Given the description of an element on the screen output the (x, y) to click on. 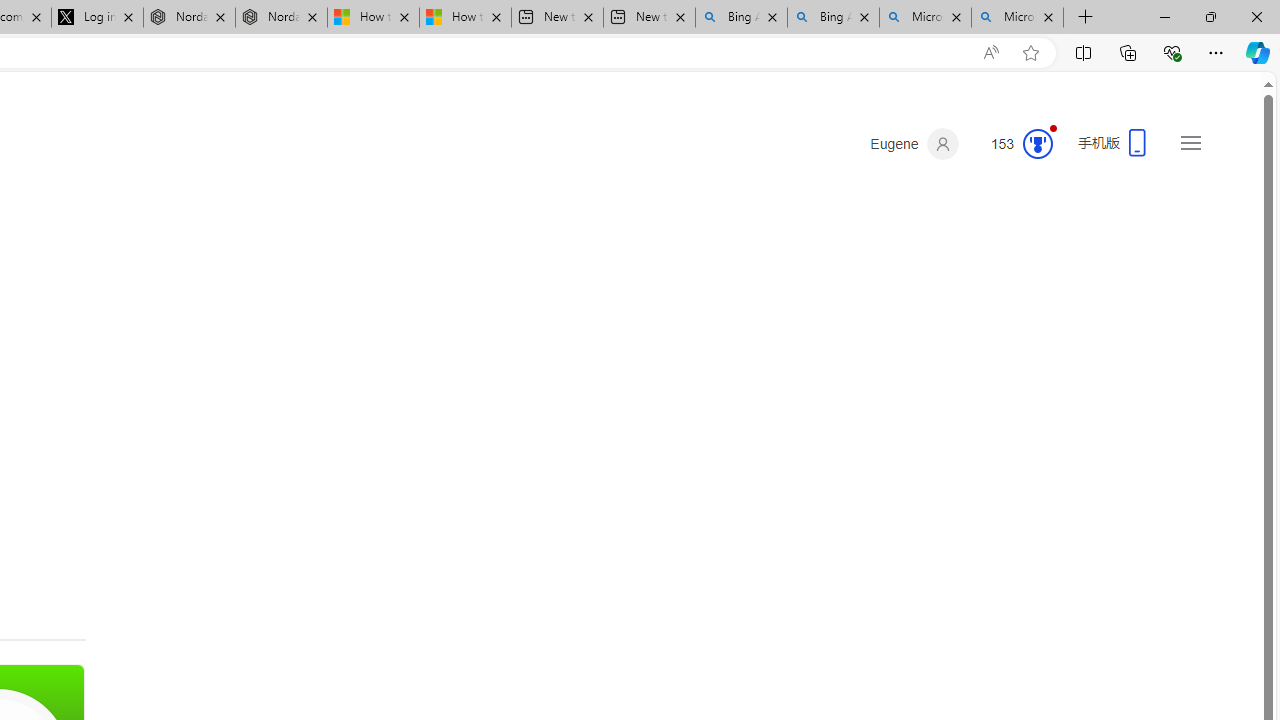
Microsoft Rewards 153 (1014, 143)
Bing AI - Search (833, 17)
Log in to X / X (97, 17)
Microsoft Bing Timeline - Search (1017, 17)
